Given the description of an element on the screen output the (x, y) to click on. 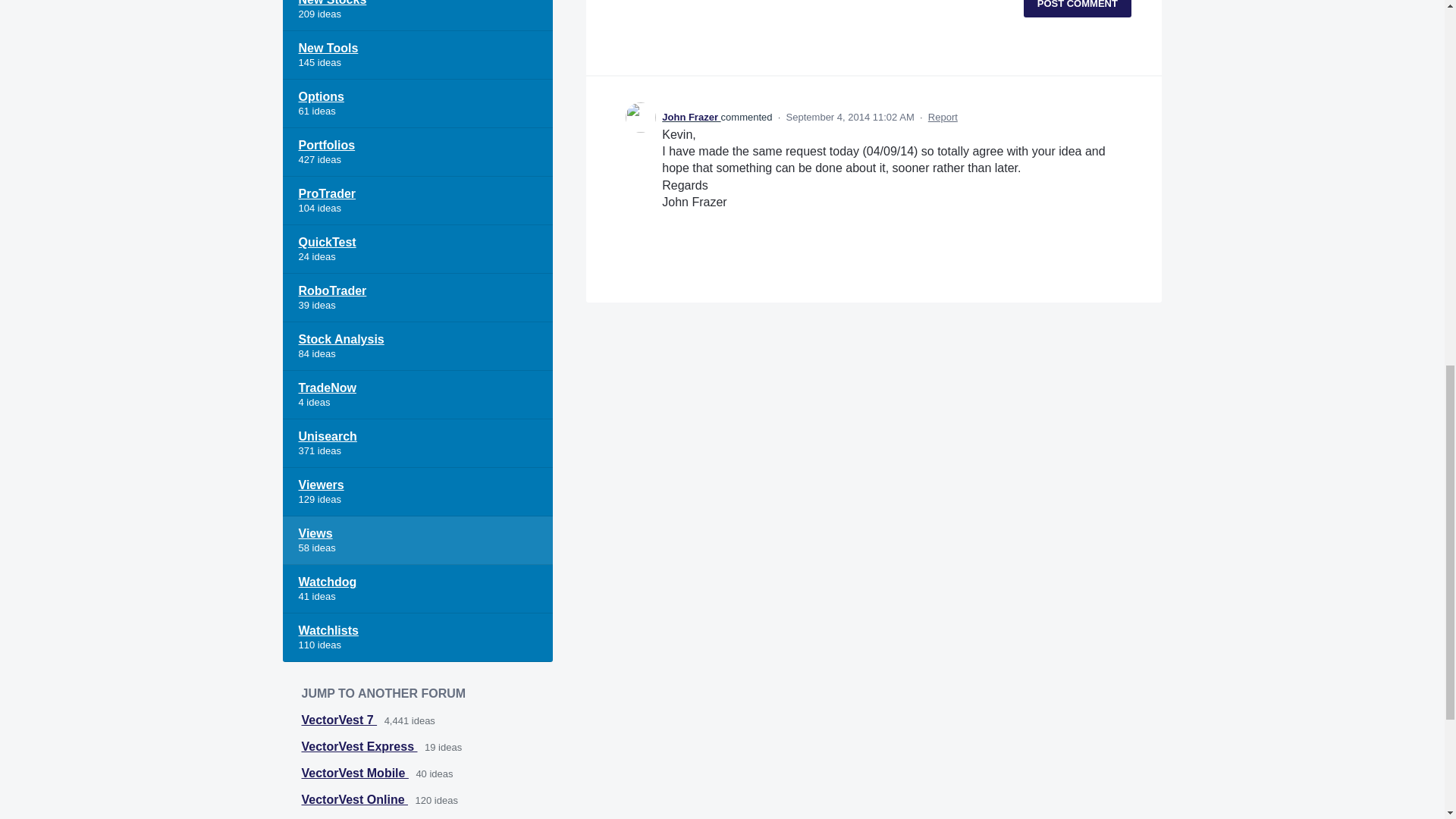
New Tools (417, 55)
View all ideas in category QuickTest (417, 249)
RoboTrader (417, 297)
View all ideas in category Portfolios (417, 151)
View all ideas in category ProTrader (417, 200)
New Stocks (417, 15)
View all ideas in category RoboTrader (417, 297)
Portfolios (417, 151)
Options (417, 103)
ProTrader (417, 200)
Unisearch (417, 443)
VectorVest Express (359, 746)
Views (417, 540)
TradeNow (417, 395)
View all ideas in category Options (417, 103)
